Given the description of an element on the screen output the (x, y) to click on. 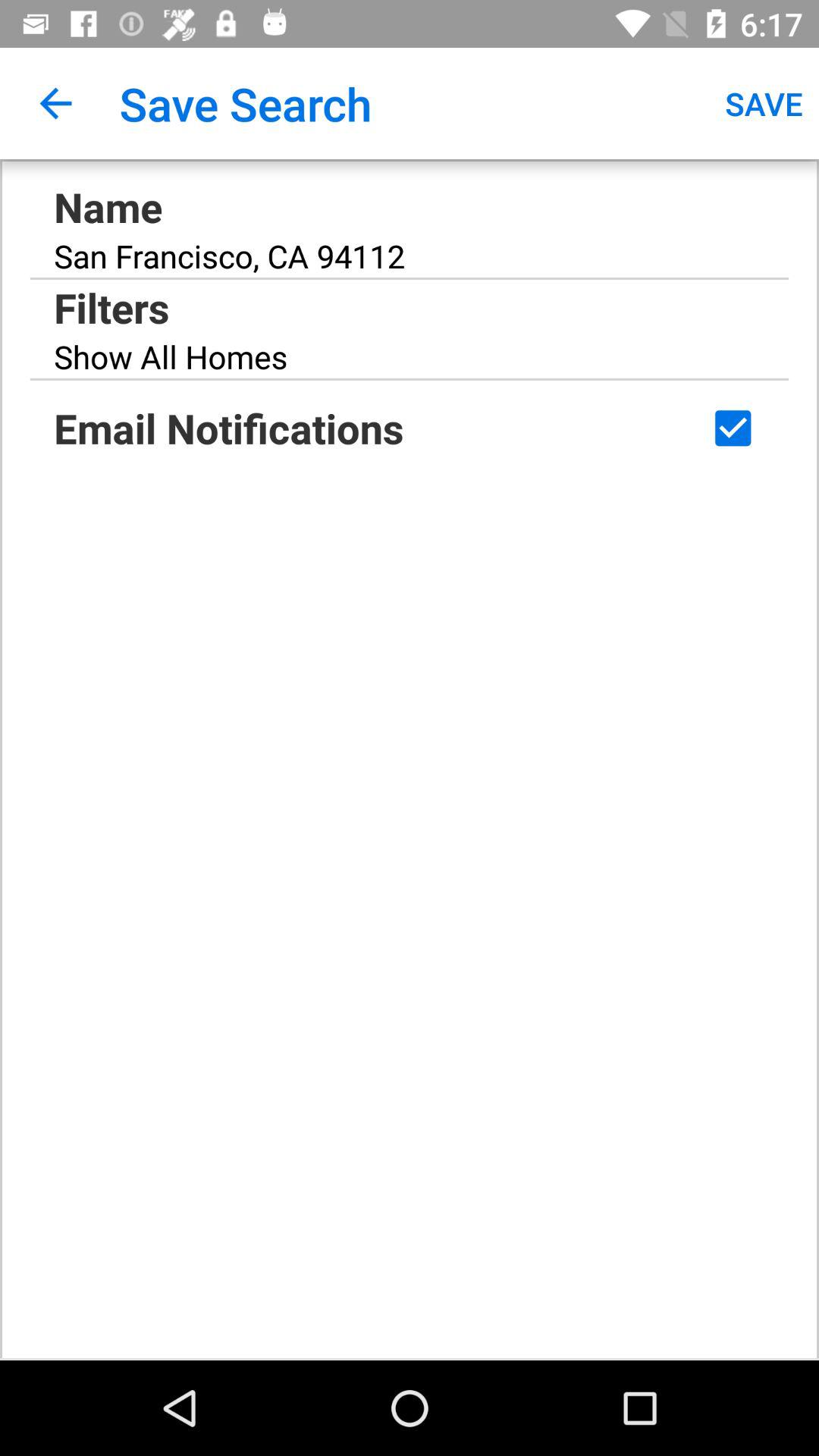
select the app (732, 428)
